Given the description of an element on the screen output the (x, y) to click on. 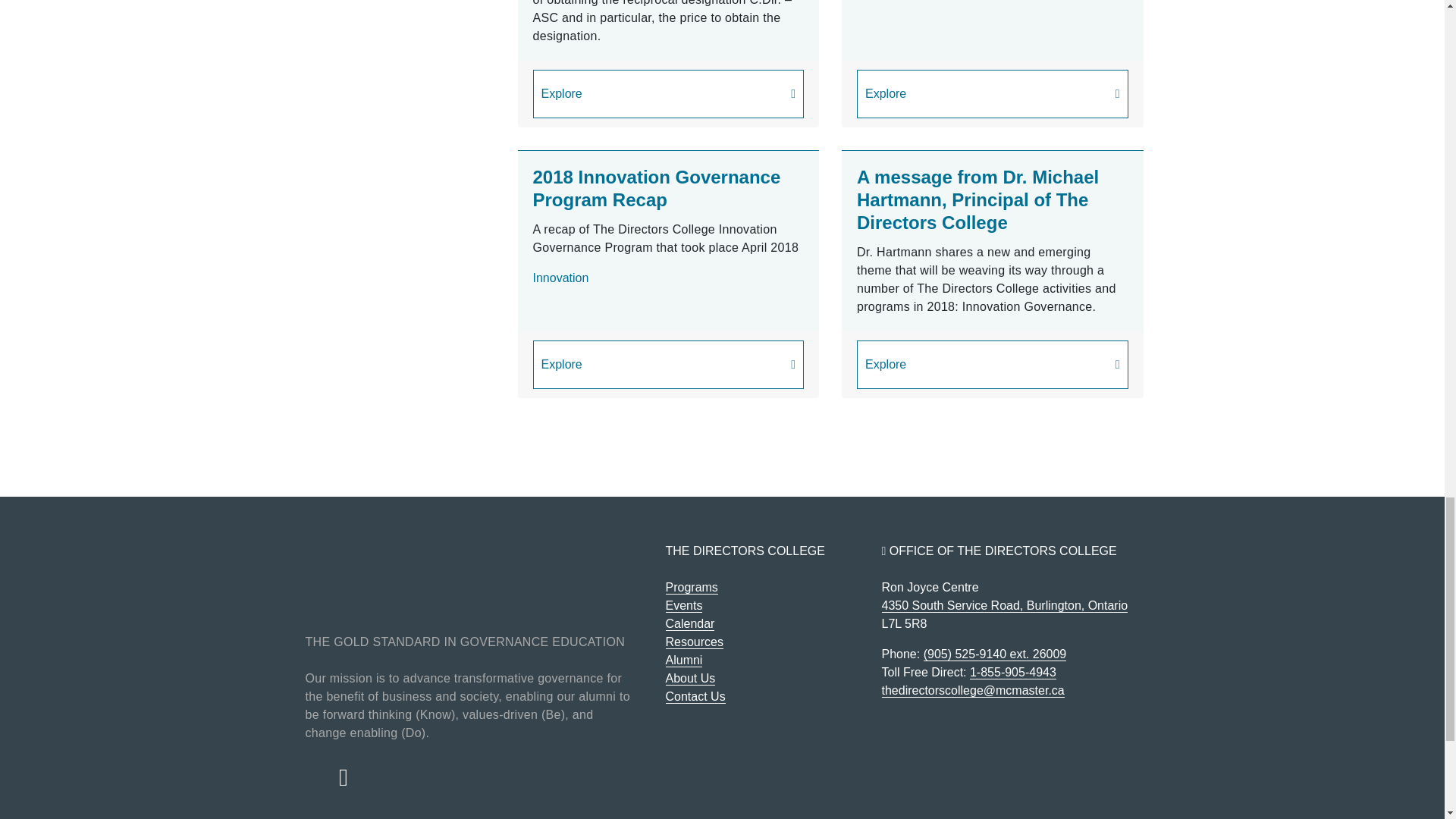
Google Map for the Ron Joyce Centre (1003, 605)
